Given the description of an element on the screen output the (x, y) to click on. 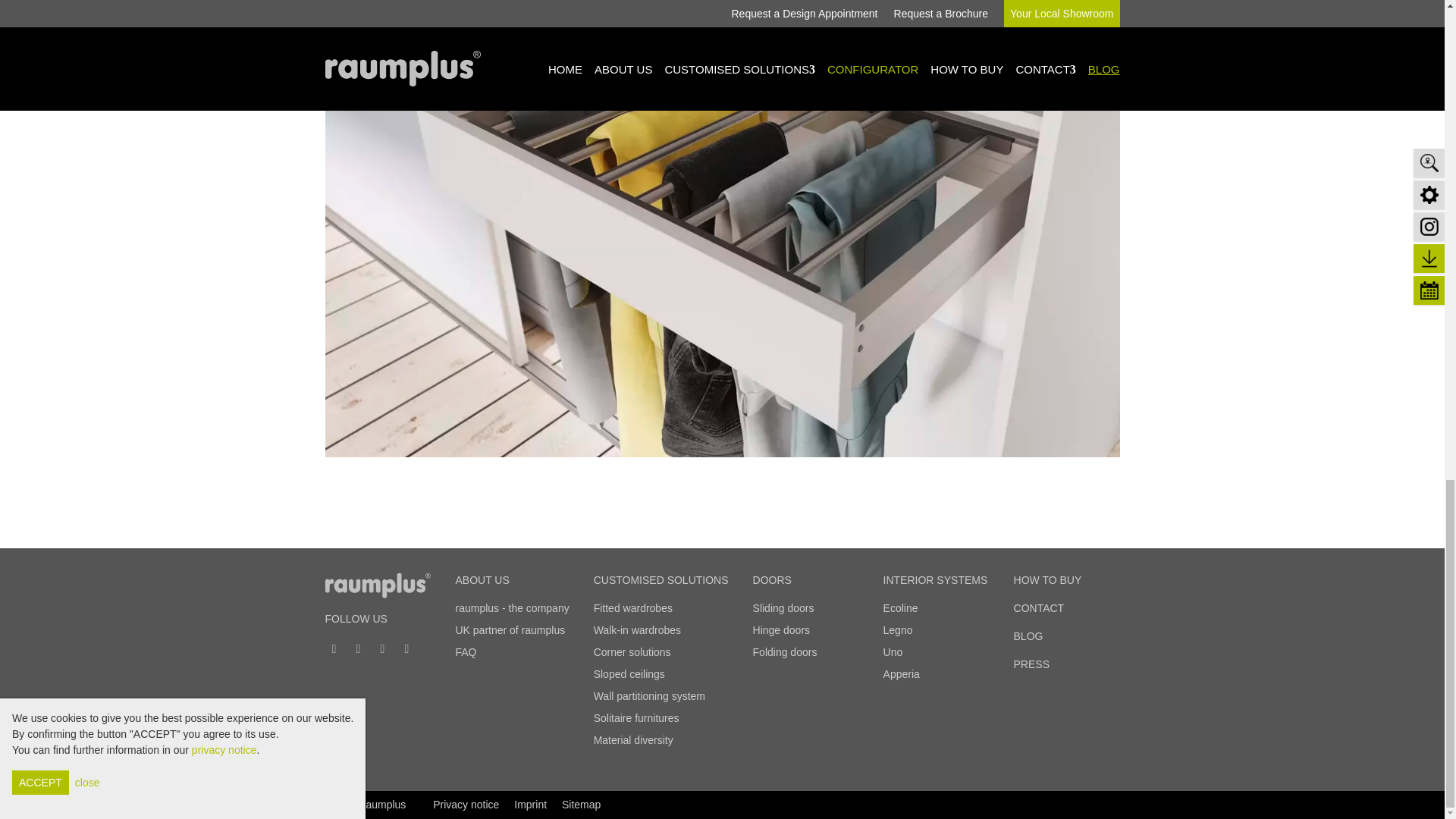
FAQ (465, 652)
Instagram (357, 648)
raumplus - the company (511, 608)
Sloped ceilings (629, 674)
Wall partitioning system (649, 696)
Fitted wardrobes (633, 608)
Corner solutions (632, 652)
Facebook (333, 648)
raumplus (377, 585)
